Given the description of an element on the screen output the (x, y) to click on. 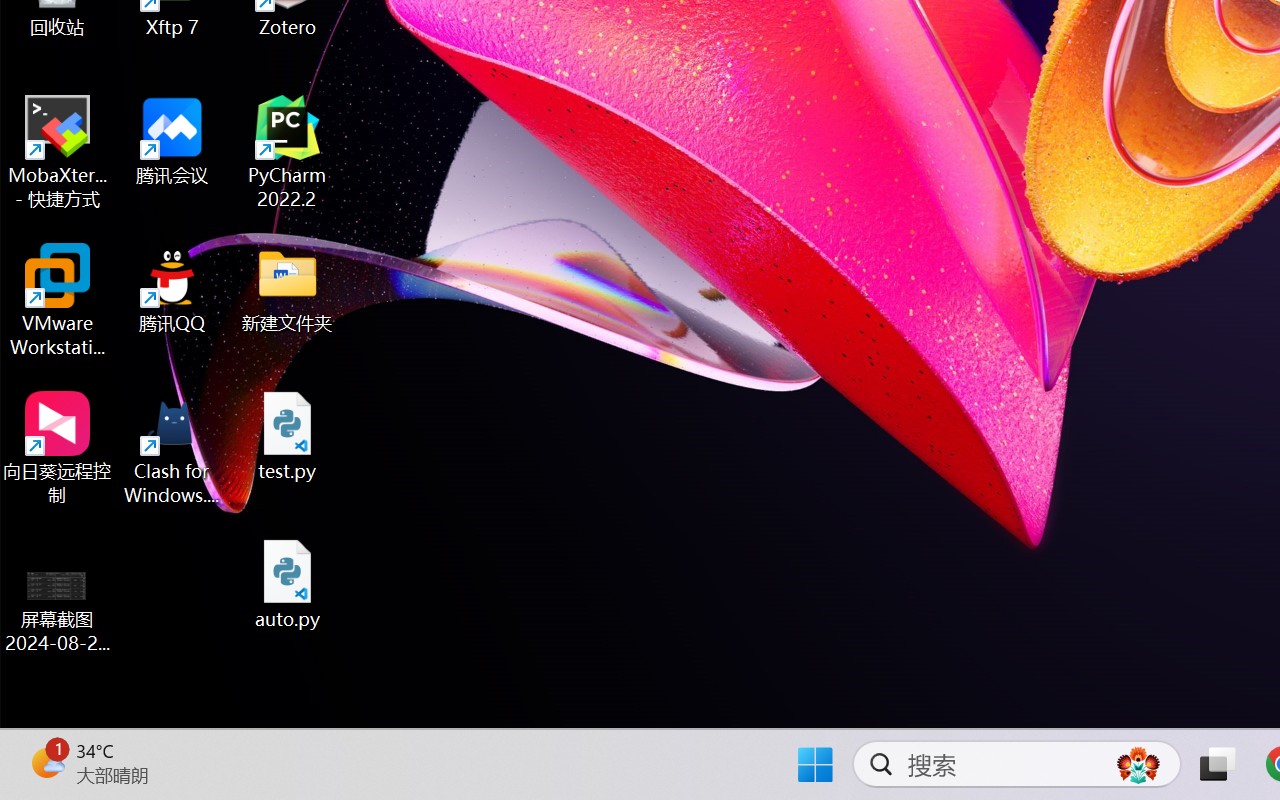
PyCharm 2022.2 (287, 152)
